Given the description of an element on the screen output the (x, y) to click on. 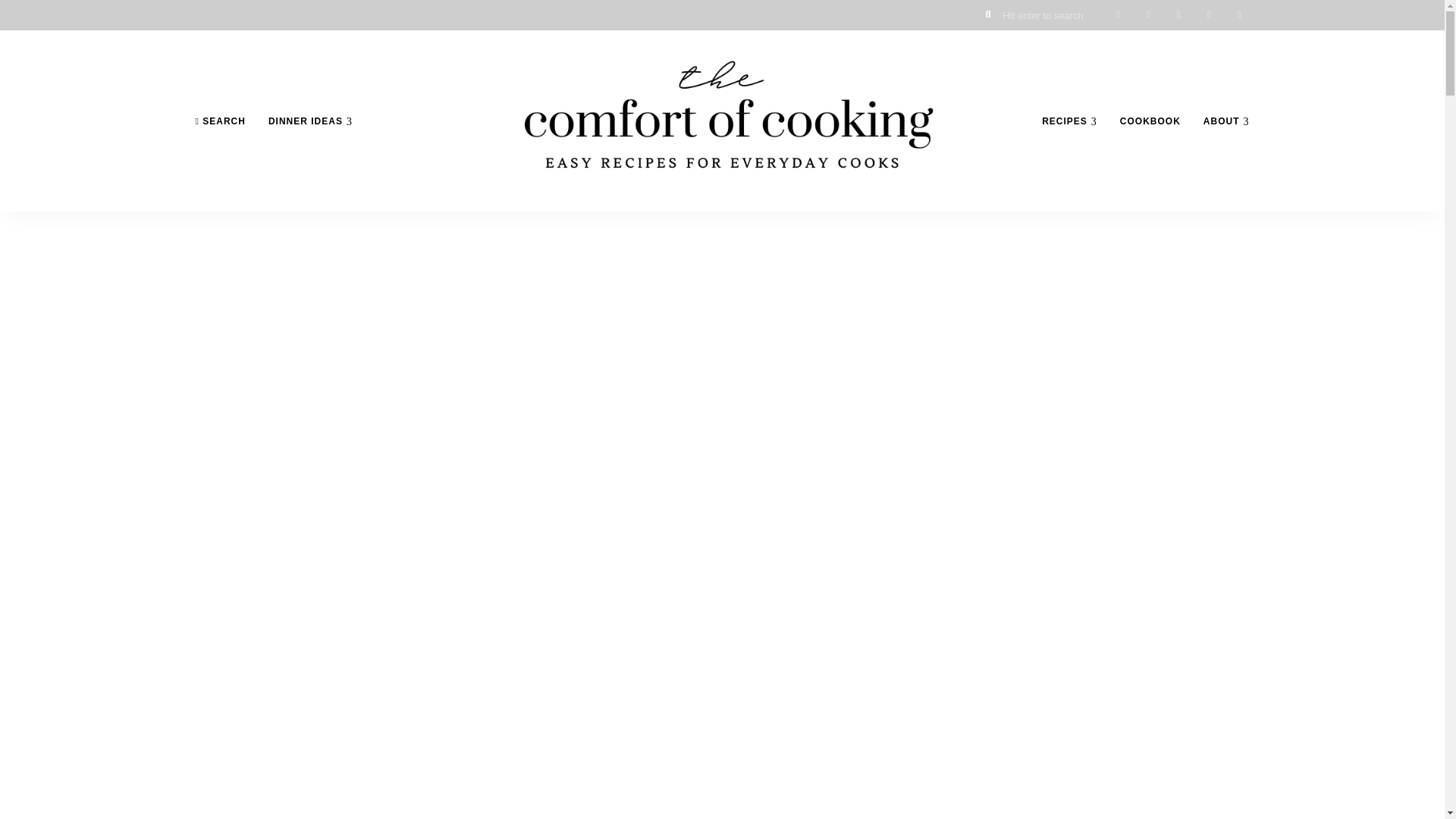
Instagram (1178, 15)
YouTube (1238, 15)
Facebook (1117, 15)
RECIPES (1069, 120)
DINNER IDEAS (310, 120)
Pinterest (1208, 15)
Twitter (1147, 15)
